Given the description of an element on the screen output the (x, y) to click on. 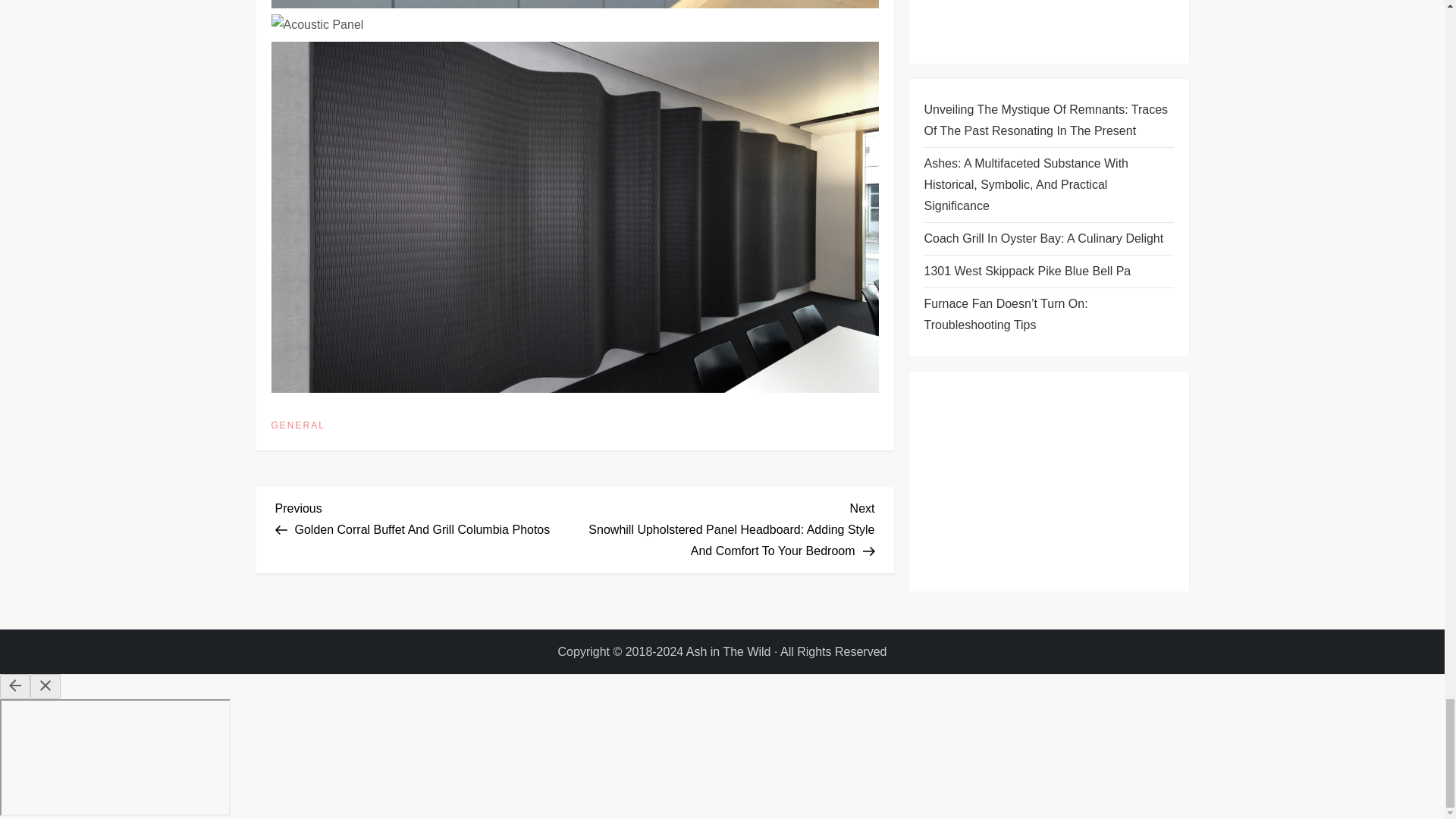
GENERAL (297, 426)
